Given the description of an element on the screen output the (x, y) to click on. 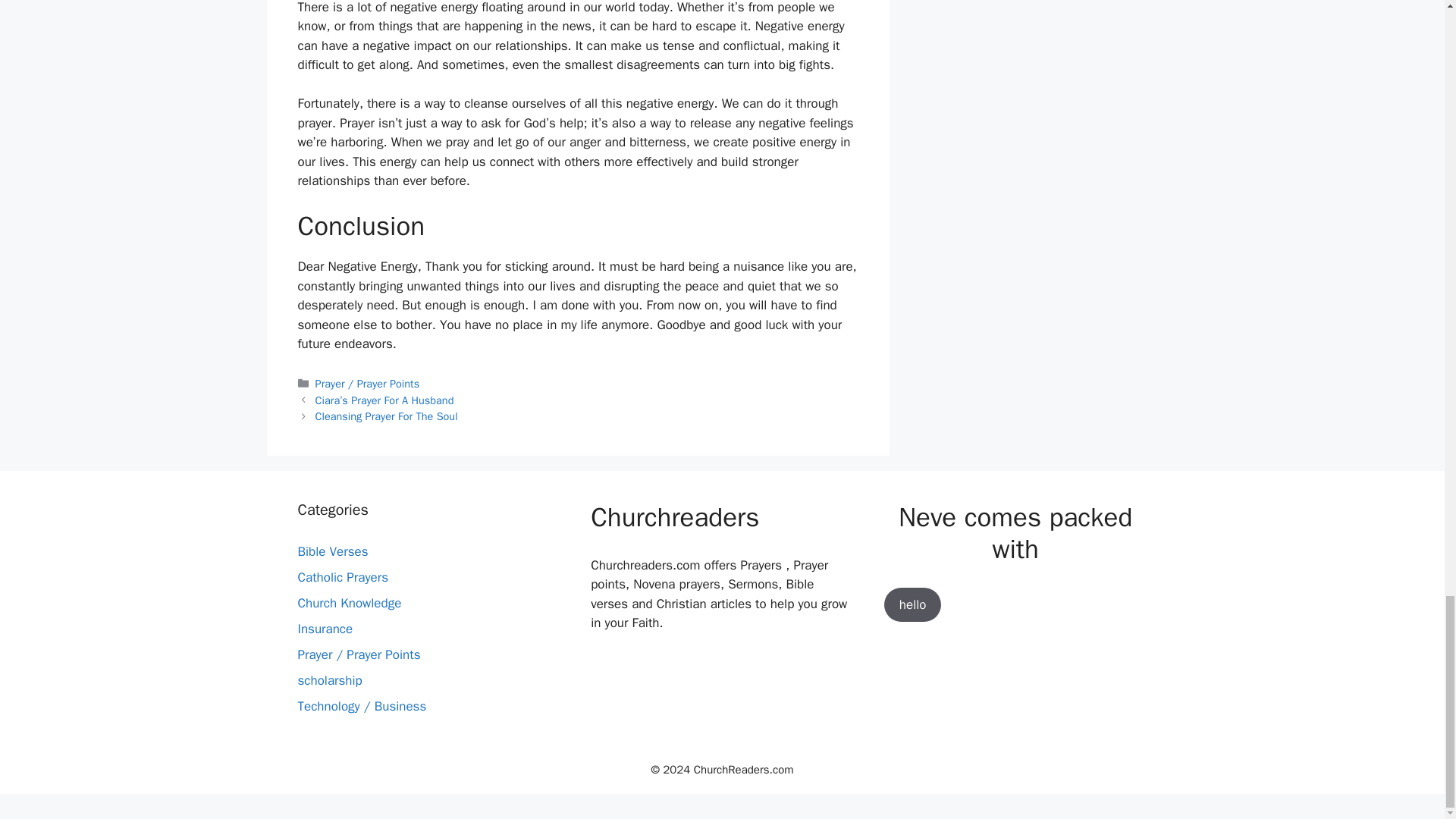
Church Knowledge (349, 602)
Insurance (324, 628)
Cleansing Prayer For The Soul (386, 416)
hello (912, 605)
Bible Verses (332, 551)
scholarship (329, 680)
Catholic Prayers (342, 577)
